Given the description of an element on the screen output the (x, y) to click on. 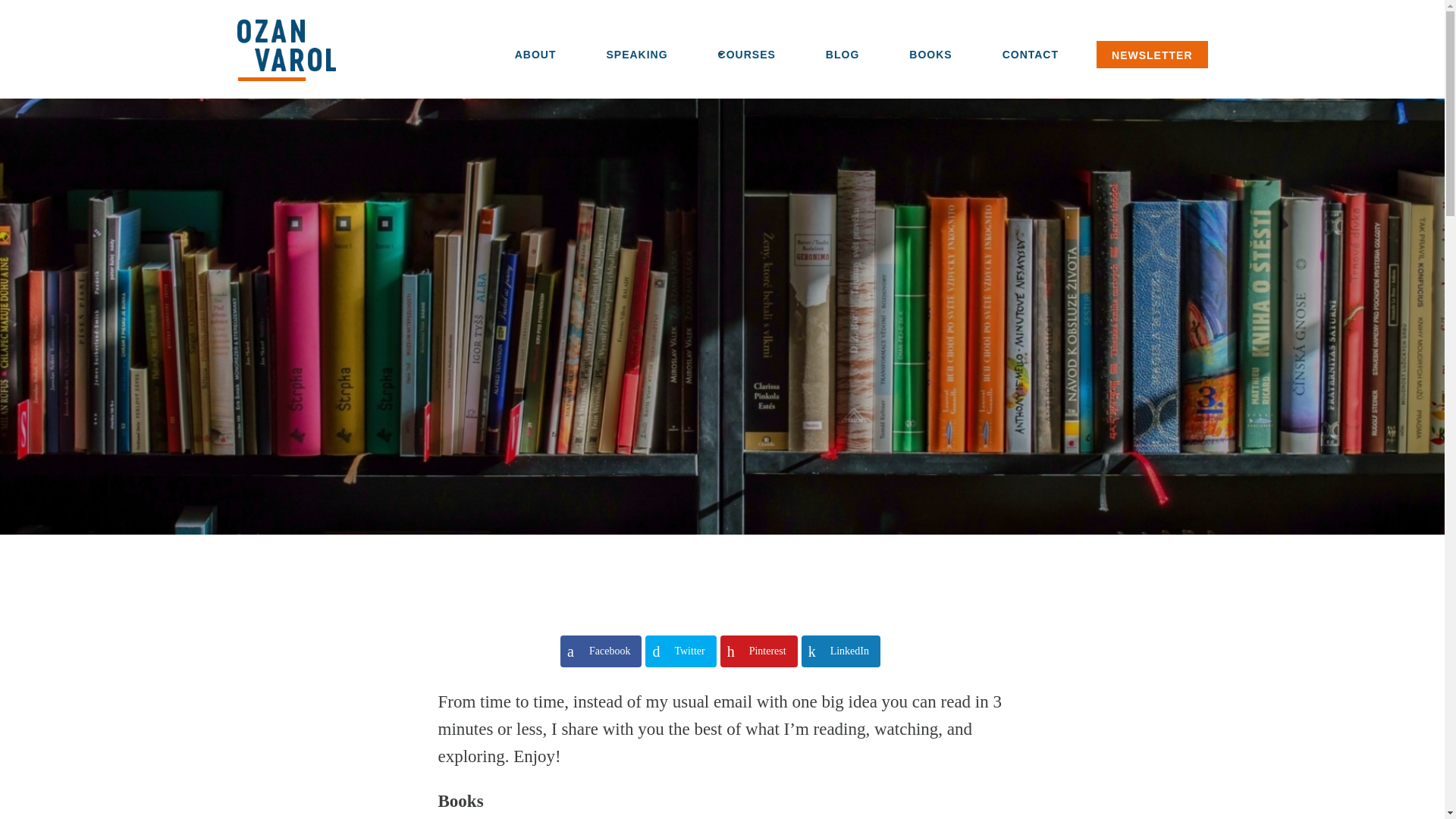
Share on Pinterest (758, 651)
Share on Facebook (601, 651)
BLOG (842, 54)
LinkedIn (841, 651)
CONTACT (1030, 54)
Pinterest (758, 651)
COURSES (746, 54)
SPEAKING (635, 54)
NEWSLETTER (1151, 53)
Facebook (601, 651)
